Given the description of an element on the screen output the (x, y) to click on. 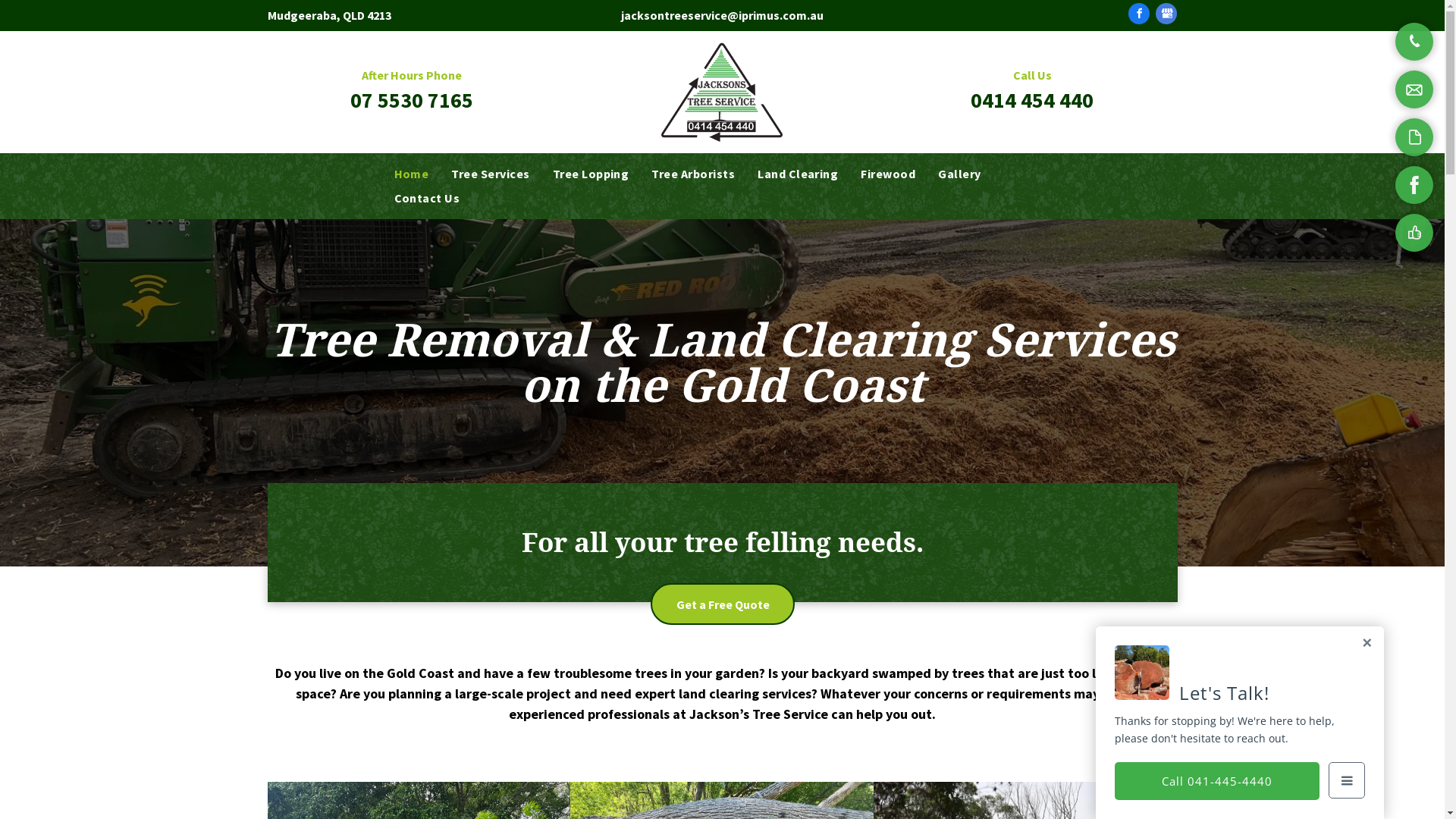
Contact Us Element type: text (426, 197)
Tree Arborists Element type: text (693, 173)
Tree Services Element type: text (489, 173)
07 5530 7165 Element type: text (411, 99)
Firewood Element type: text (887, 173)
Tree Lopping Element type: text (590, 173)
Home Element type: text (410, 173)
Land Clearing Element type: text (797, 173)
0414 454 440 Element type: text (1031, 99)
Gallery Element type: text (958, 173)
Mudgeeraba, QLD 4213 Element type: text (328, 14)
Get a Free Quote Element type: text (722, 603)
Call 041-445-4440 Element type: text (1216, 781)
jacksontreeservice@iprimus.com.au Element type: text (722, 14)
